Given the description of an element on the screen output the (x, y) to click on. 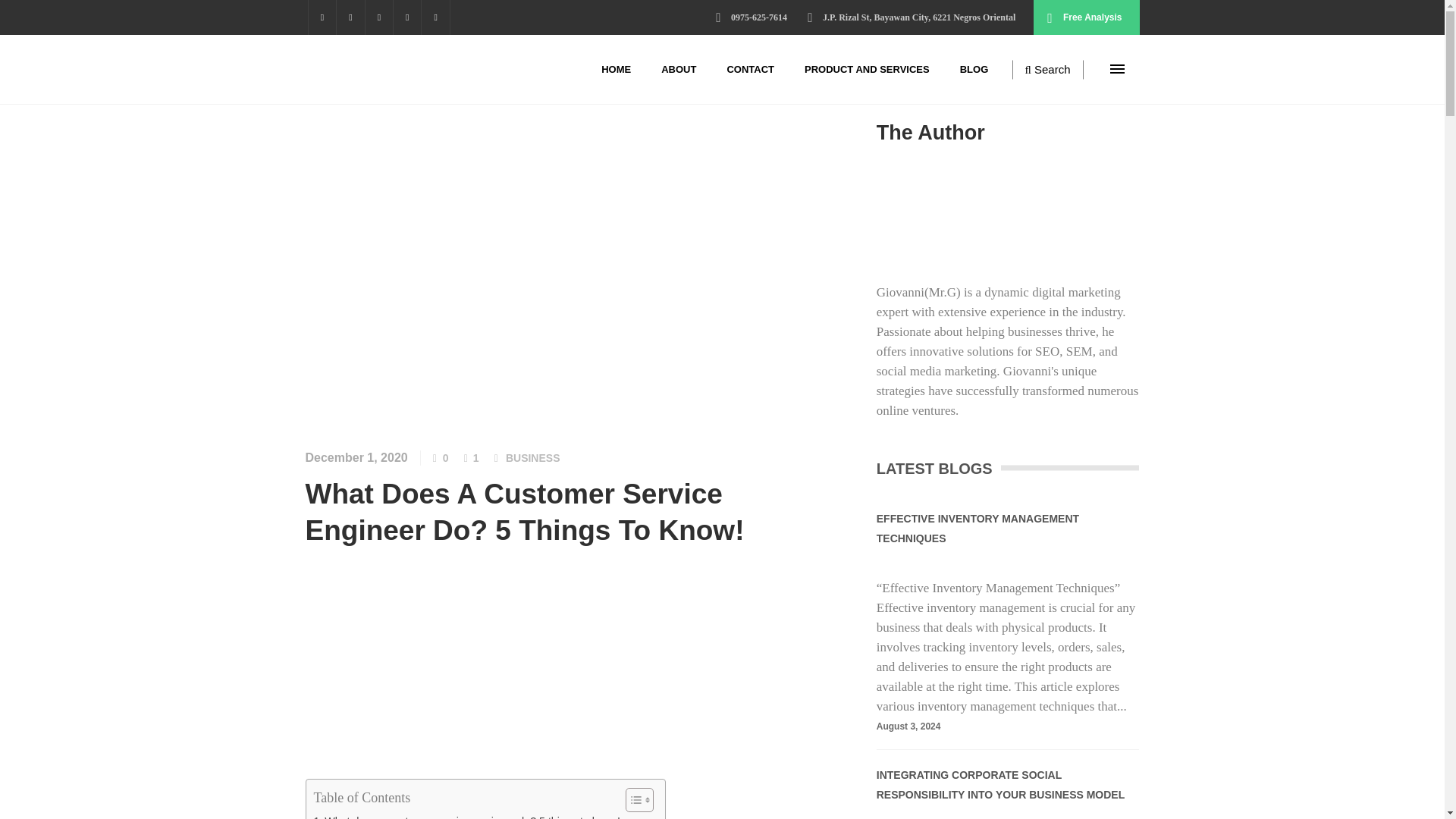
CONTACT (750, 69)
Free Analysis (1085, 17)
ABOUT (678, 69)
PRODUCT AND SERVICES (866, 69)
Like this (440, 458)
What does a customer service engineer do? 5 things to know! (467, 816)
